Given the description of an element on the screen output the (x, y) to click on. 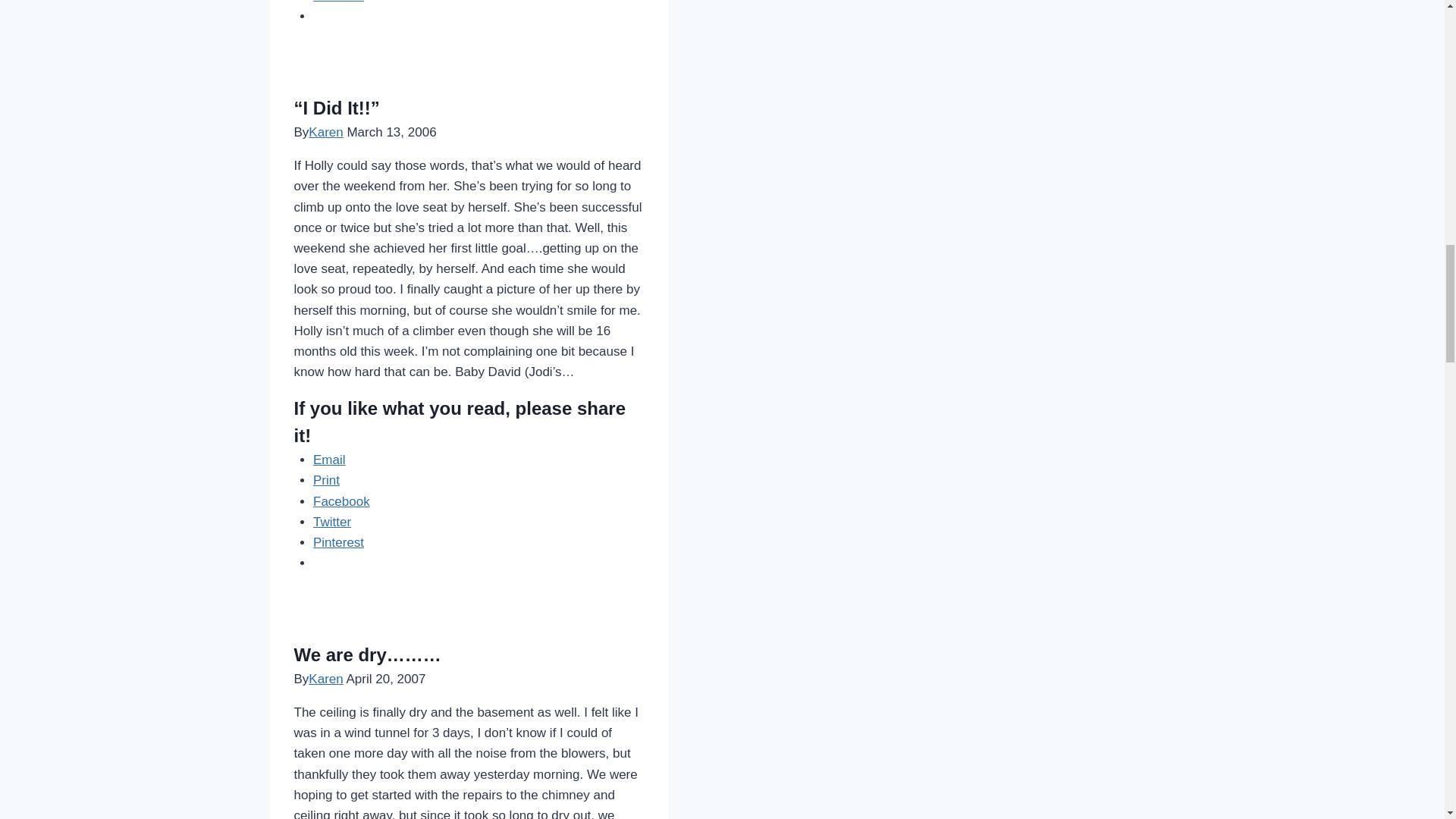
Click to print (326, 480)
Click to share on Facebook (341, 501)
Twitter (331, 522)
Facebook (341, 501)
Pinterest (338, 1)
Click to share on Twitter (331, 522)
Click to share on Pinterest (338, 1)
Click to email a link to a friend (329, 459)
Click to share on Pinterest (338, 542)
Karen (325, 132)
